Given the description of an element on the screen output the (x, y) to click on. 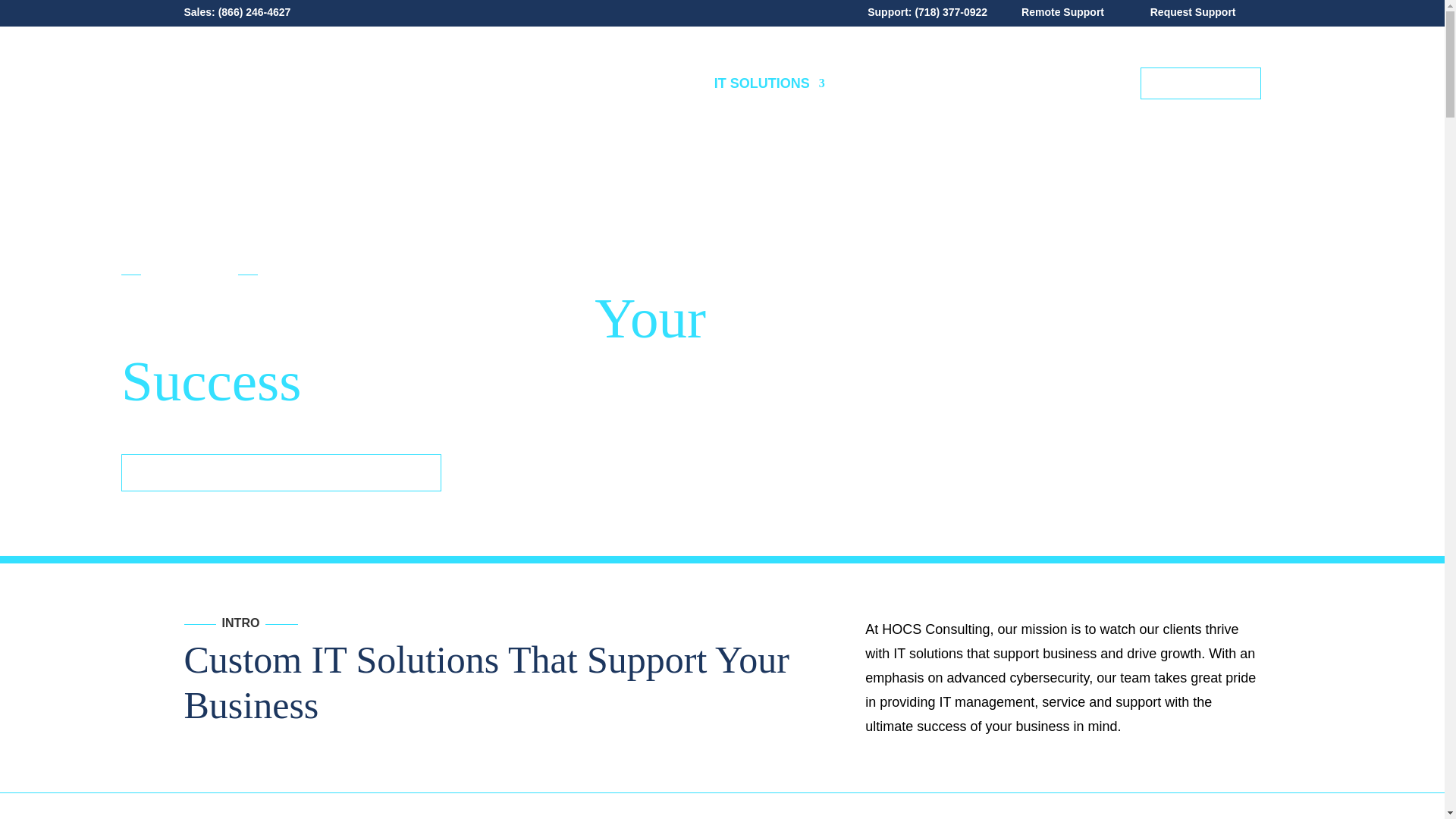
ABOUT US (983, 83)
INSIGHTS (1083, 83)
Remote Support (1062, 11)
INDUSTRIES (882, 83)
CONTACT US (1200, 83)
IT SOLUTIONS (769, 83)
